Given the description of an element on the screen output the (x, y) to click on. 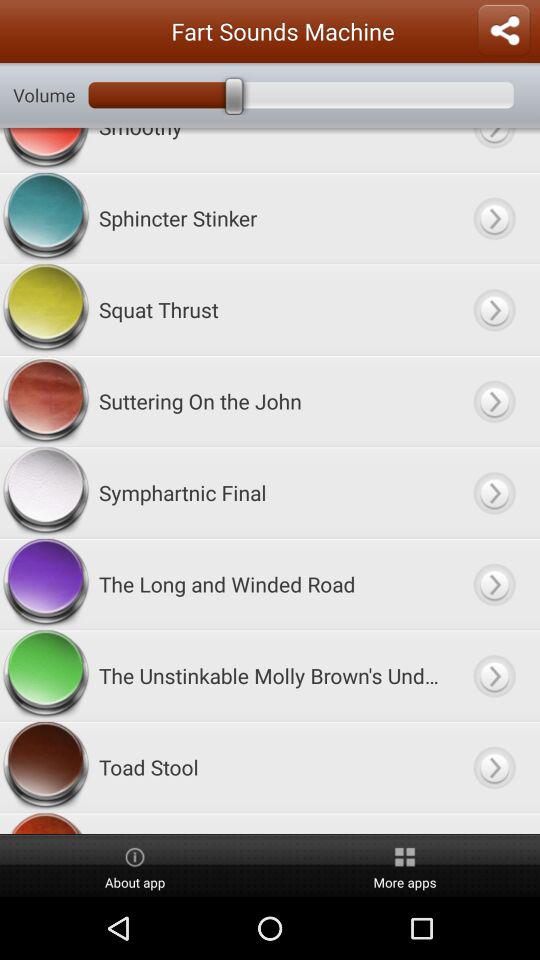
share the app (503, 31)
